Given the description of an element on the screen output the (x, y) to click on. 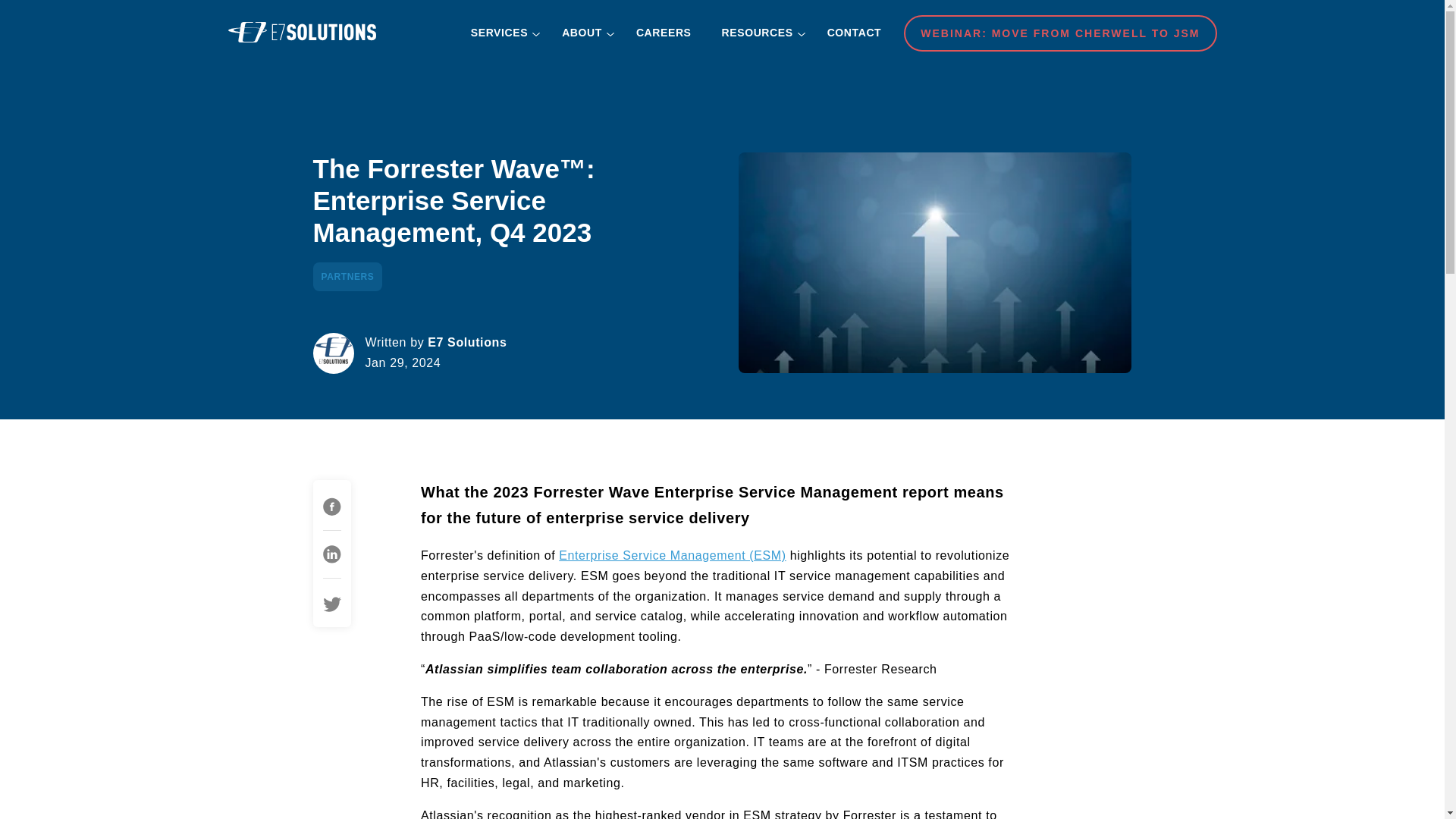
RESOURCES (759, 31)
ABOUT (583, 31)
SERVICES (500, 31)
CONTACT (854, 31)
WEBINAR: MOVE FROM CHERWELL TO JSM (1059, 33)
CAREERS (663, 31)
E7 Solutions (301, 32)
